Given the description of an element on the screen output the (x, y) to click on. 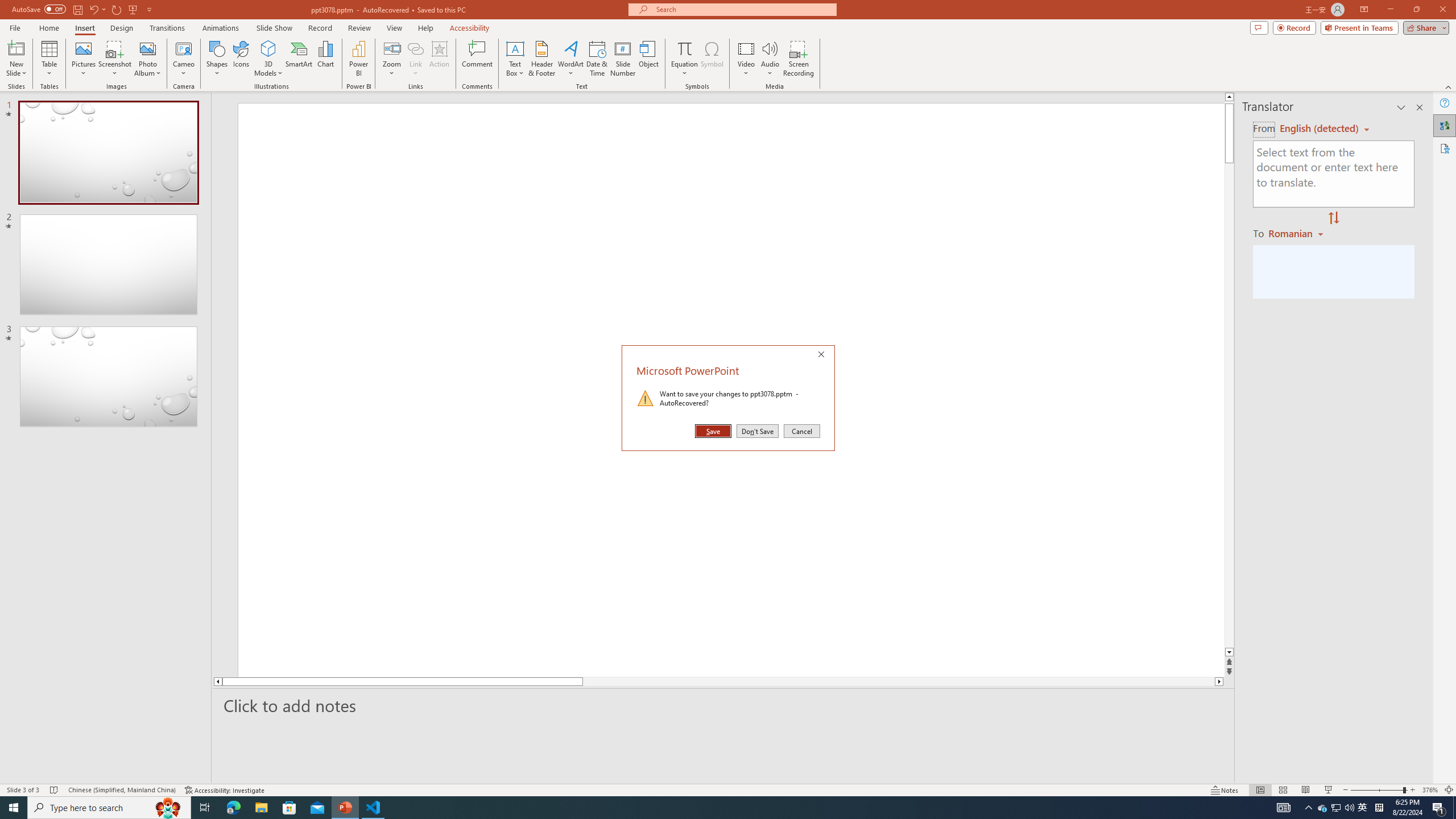
Photo Album... (147, 58)
Czech (detected) (1319, 128)
